Given the description of an element on the screen output the (x, y) to click on. 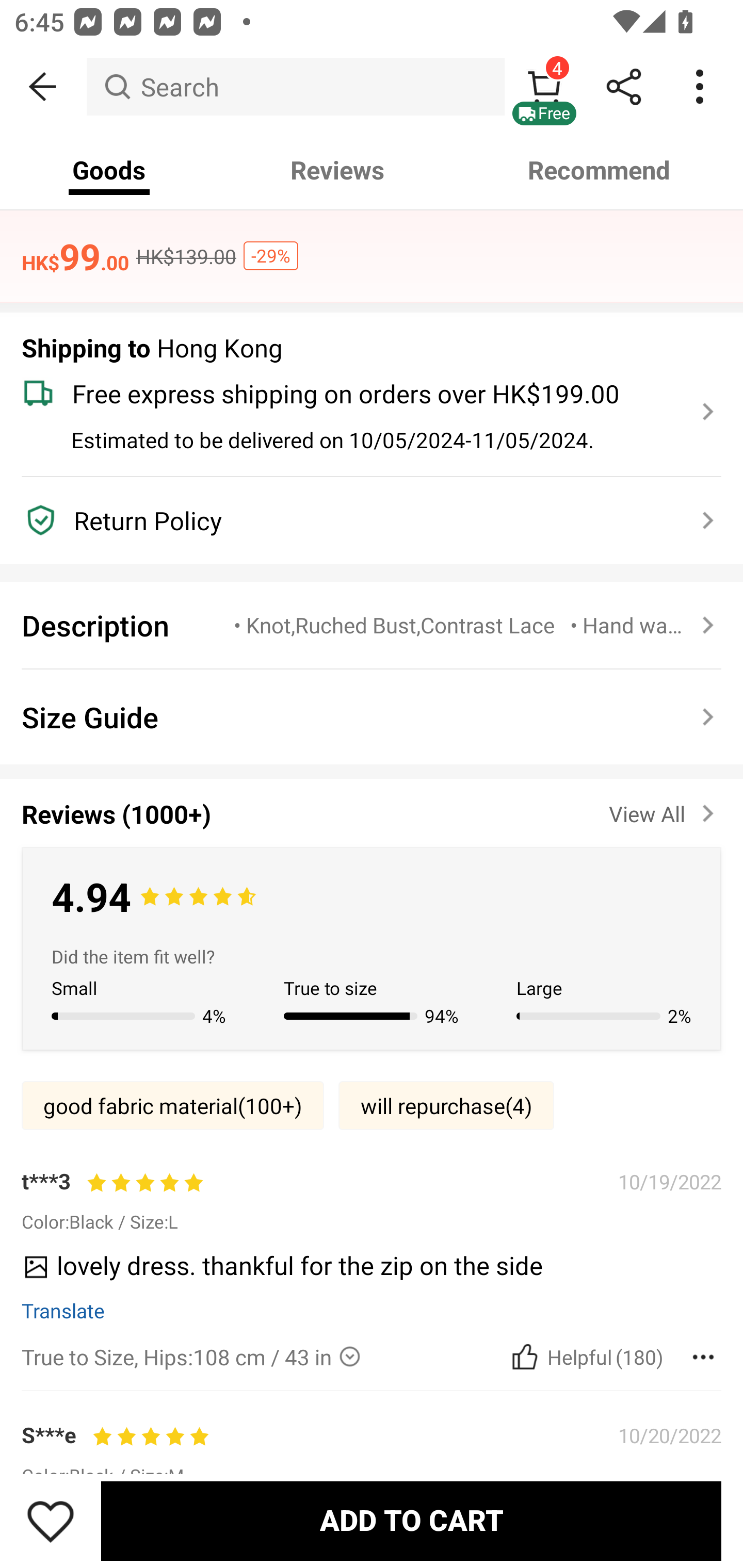
BACK (43, 86)
4 Free (543, 87)
Search (295, 87)
Goods (109, 170)
Reviews (337, 170)
Recommend (599, 170)
Return Policy (359, 520)
Size Guide (371, 717)
View All (664, 809)
good fabric material(100‎+) (172, 1105)
will repurchase(4) (446, 1105)
t***3 Rating5.0 10/19/2022 Color:Black / Size:L (371, 1200)
  lovely dress. thankful for the zip on the side (363, 1272)
Translate (62, 1309)
Cancel Helpful Was this article helpful? (180) (585, 1356)
S***e Rating5.0 10/20/2022 Color:Black / Size:M (371, 1454)
ADD TO CART (411, 1520)
Save (50, 1520)
